Given the description of an element on the screen output the (x, y) to click on. 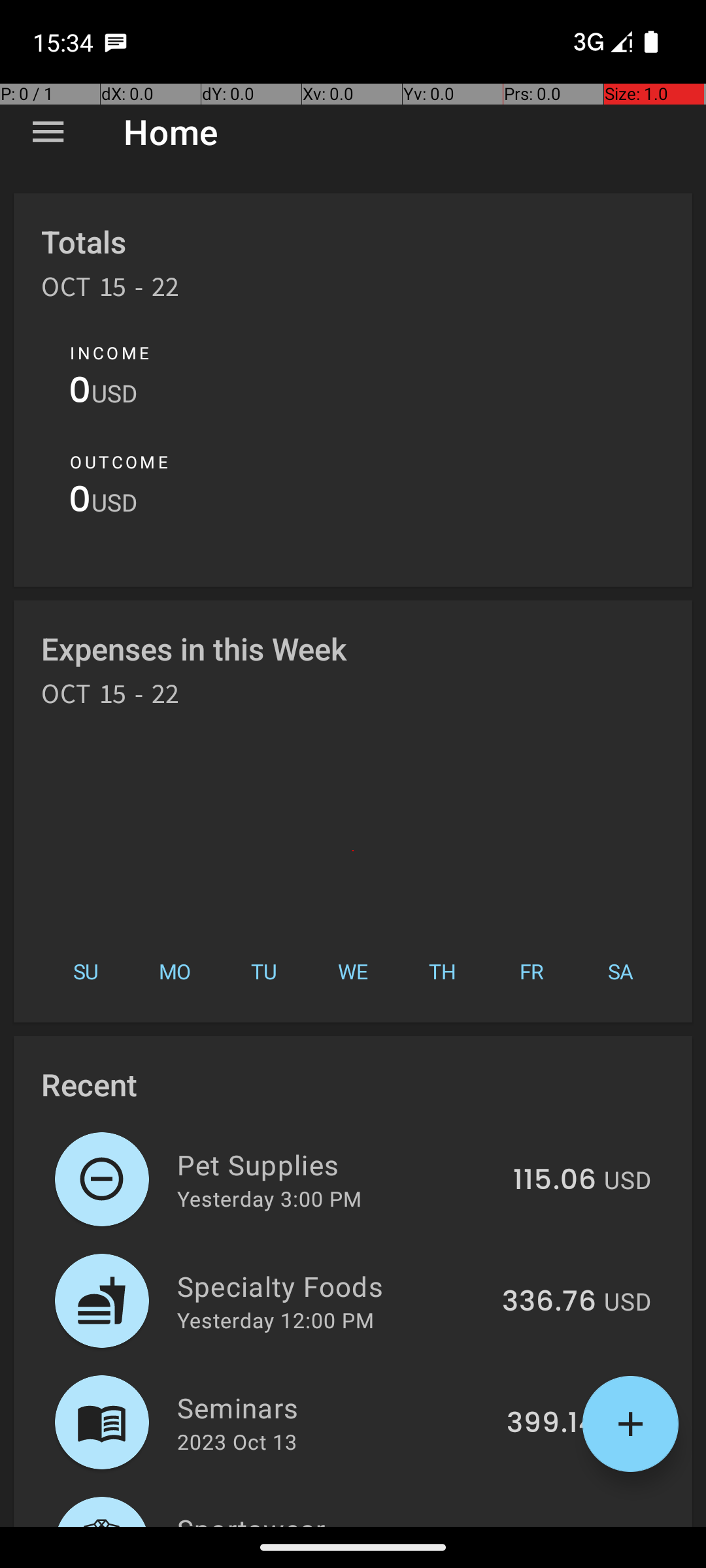
Pet Supplies Element type: android.widget.TextView (337, 1164)
Yesterday 3:00 PM Element type: android.widget.TextView (269, 1198)
115.06 Element type: android.widget.TextView (554, 1180)
Yesterday 12:00 PM Element type: android.widget.TextView (275, 1320)
336.76 Element type: android.widget.TextView (548, 1301)
Seminars Element type: android.widget.TextView (334, 1407)
399.14 Element type: android.widget.TextView (550, 1423)
Sportswear Element type: android.widget.TextView (337, 1518)
190.91 Element type: android.widget.TextView (554, 1524)
SMS Messenger notification: Martin Chen Element type: android.widget.ImageView (115, 41)
